Given the description of an element on the screen output the (x, y) to click on. 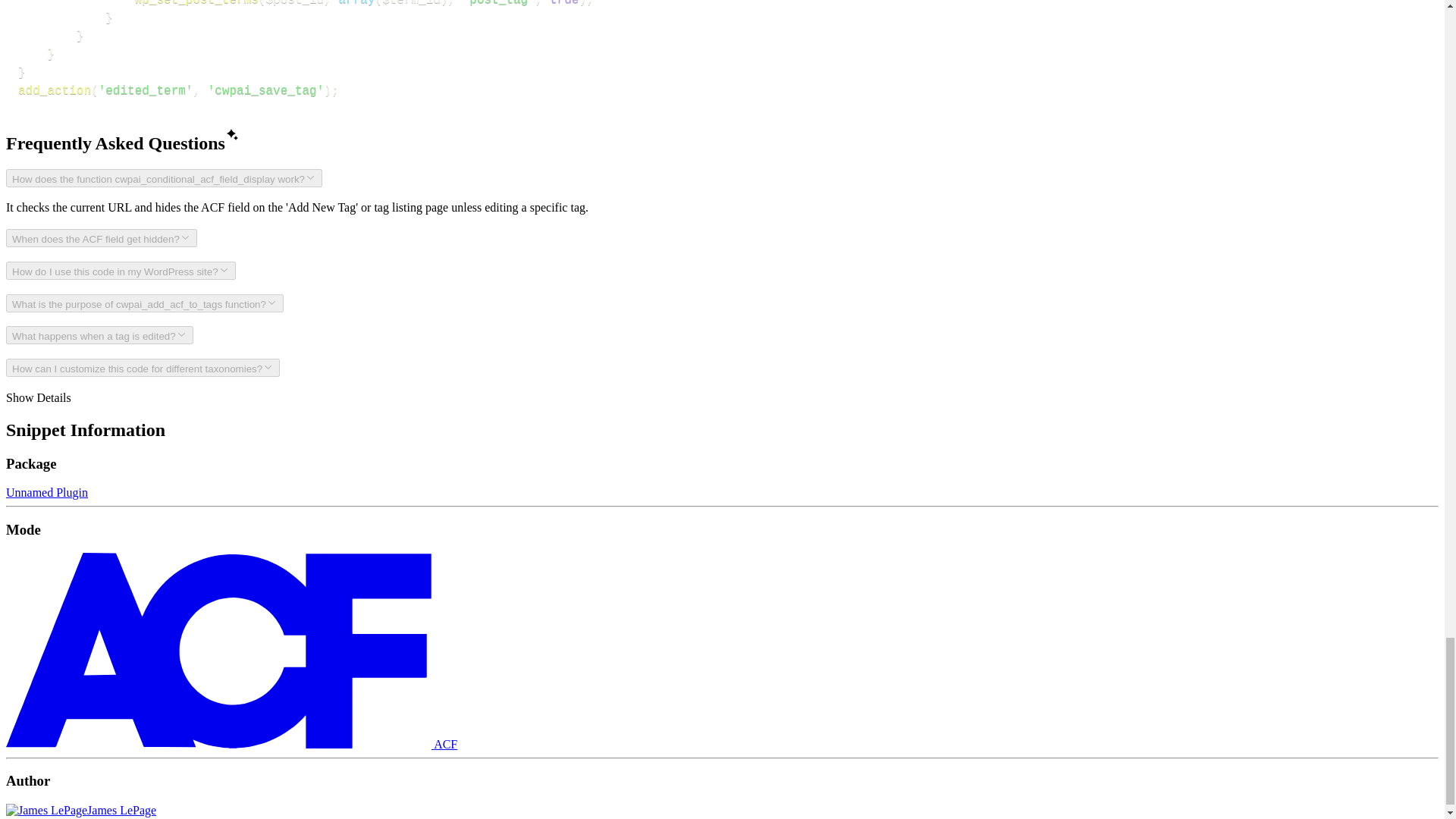
What happens when a tag is edited? (99, 334)
James LePage (80, 809)
Unnamed Plugin (46, 492)
When does the ACF field get hidden? (100, 238)
How can I customize this code for different taxonomies? (142, 367)
James LePage (80, 809)
How do I use this code in my WordPress site? (120, 270)
ACF (231, 744)
